Given the description of an element on the screen output the (x, y) to click on. 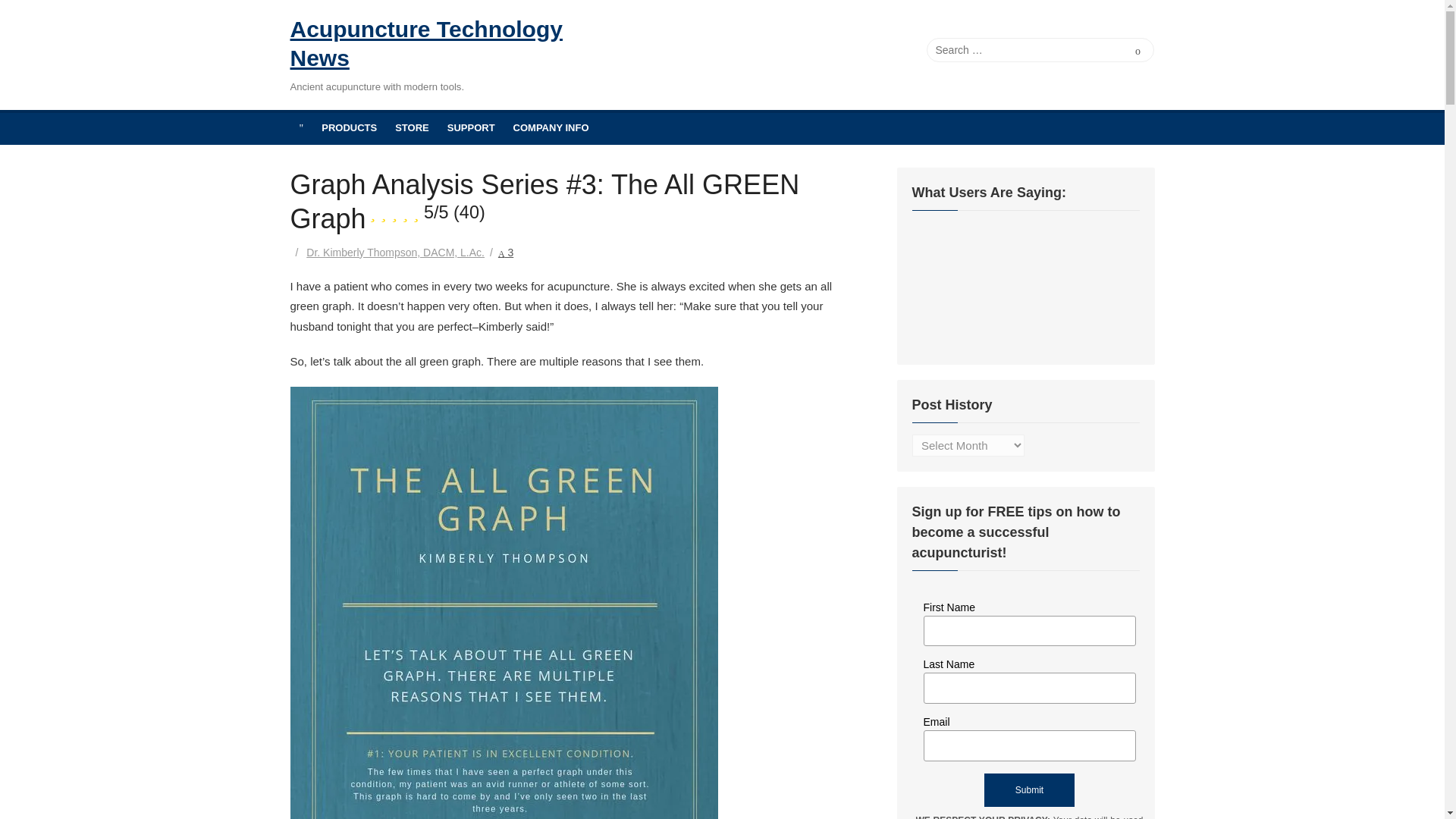
COMPANY INFO (550, 126)
Search (1137, 49)
Submit (1029, 789)
Acupuncture Technology News (428, 43)
SUPPORT (470, 126)
Dr. Kimberly Thompson, DACM, L.Ac. (394, 252)
PRODUCTS (349, 126)
3 (505, 252)
STORE (411, 126)
